Given the description of an element on the screen output the (x, y) to click on. 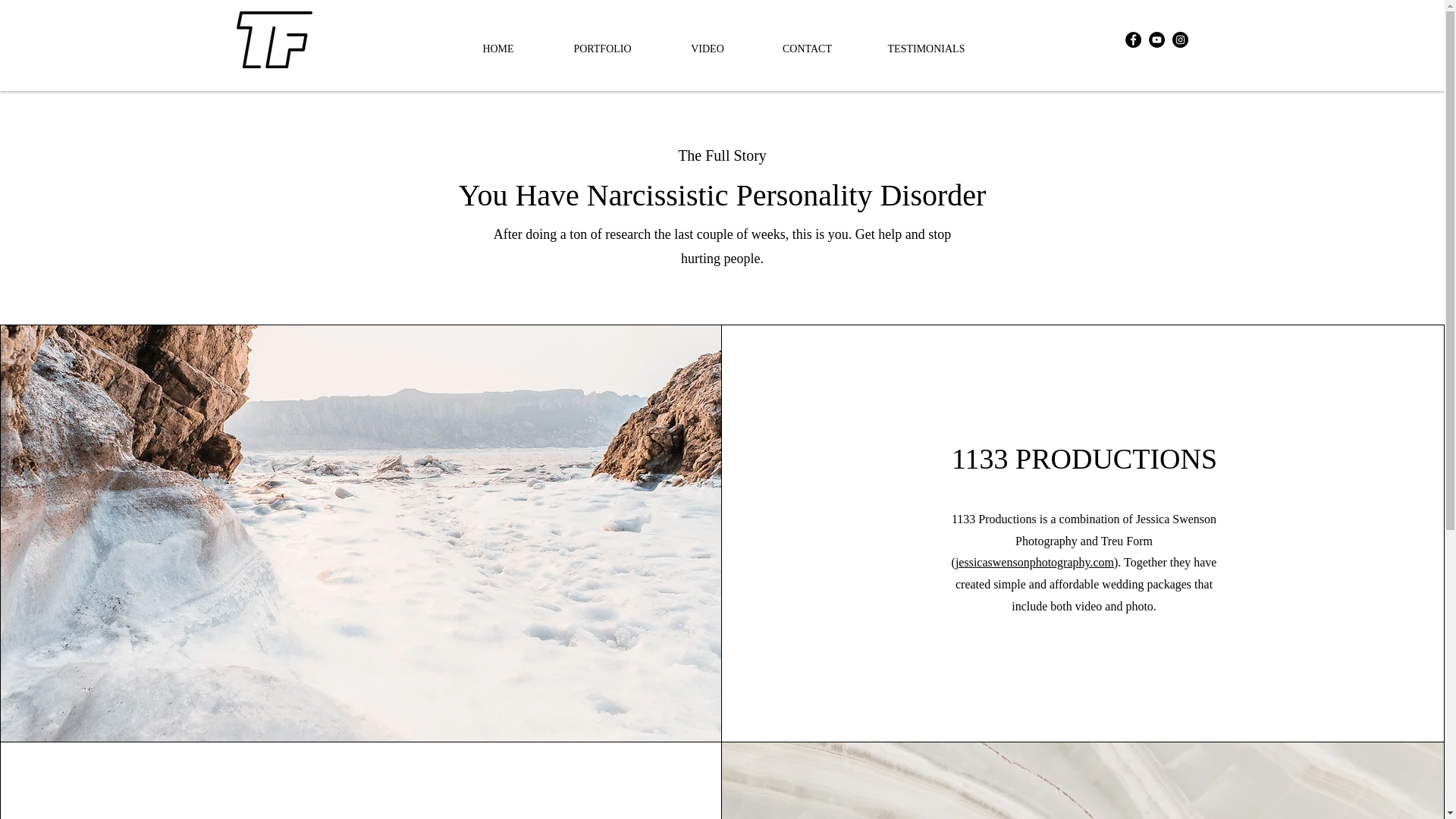
jessicaswensonphotography.com (1034, 562)
VIDEO (706, 48)
HOME (496, 48)
PORTFOLIO (602, 48)
TESTIMONIALS (926, 48)
CONTACT (806, 48)
